Given the description of an element on the screen output the (x, y) to click on. 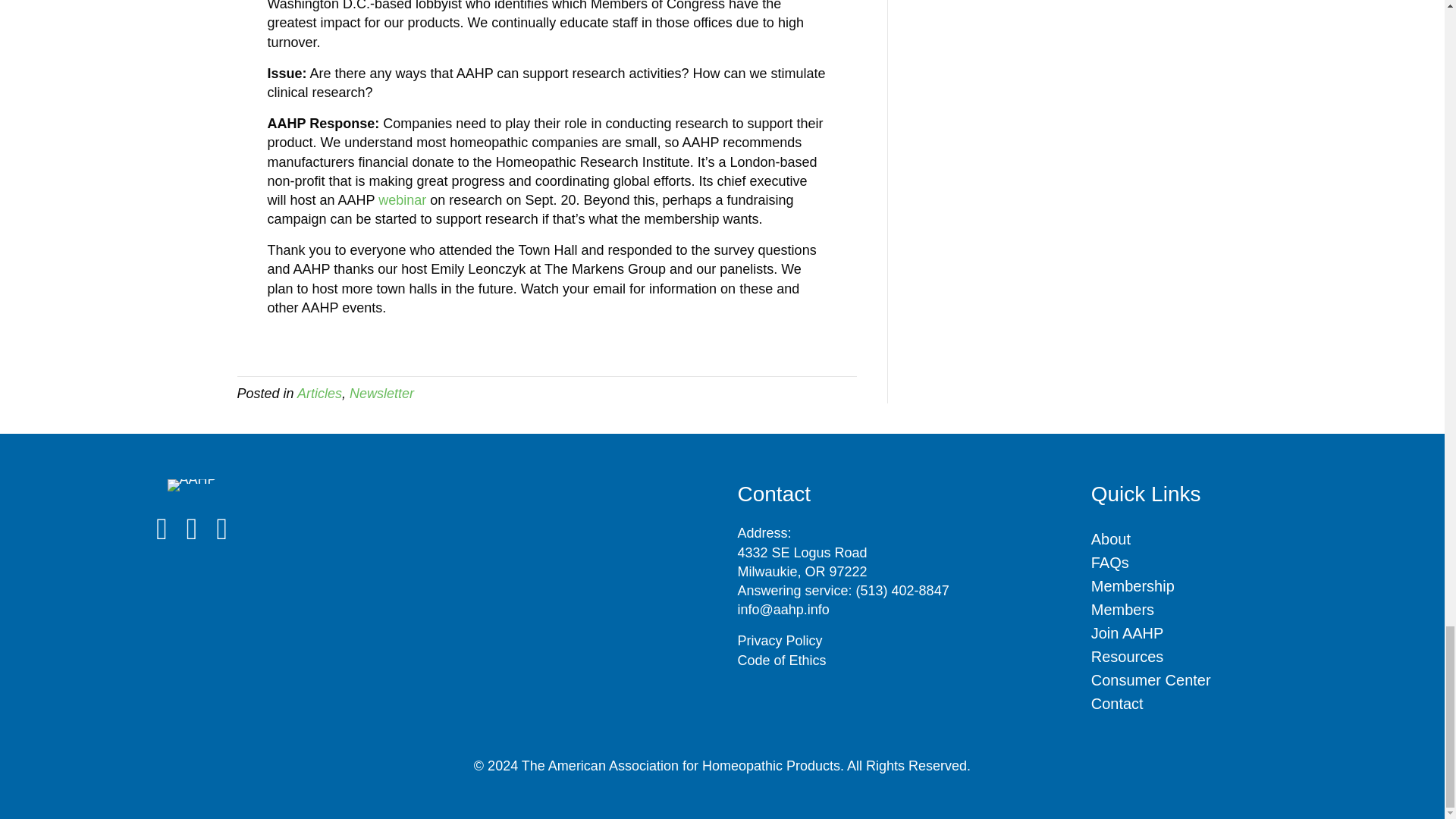
Articles (319, 393)
AAHP (191, 485)
Newsletter (381, 393)
webinar (402, 200)
